Given the description of an element on the screen output the (x, y) to click on. 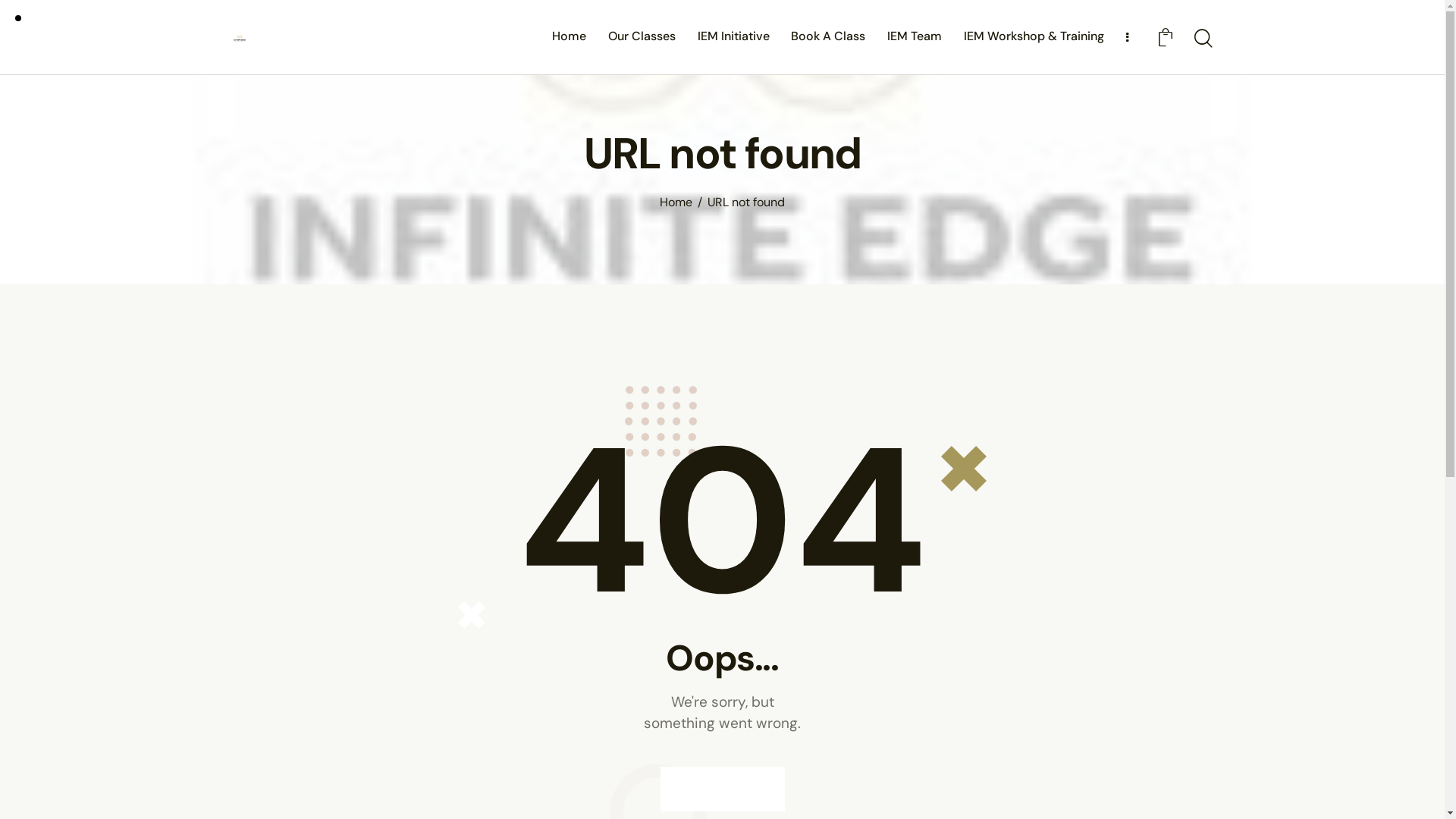
Home Element type: text (675, 203)
Homepage Element type: text (721, 788)
Home Element type: text (569, 36)
Book A Class Element type: text (828, 36)
IEM Workshop & Training Element type: text (1034, 36)
IEM Initiative Element type: text (733, 36)
Our Classes Element type: text (641, 36)
IEM Team Element type: text (914, 36)
